Given the description of an element on the screen output the (x, y) to click on. 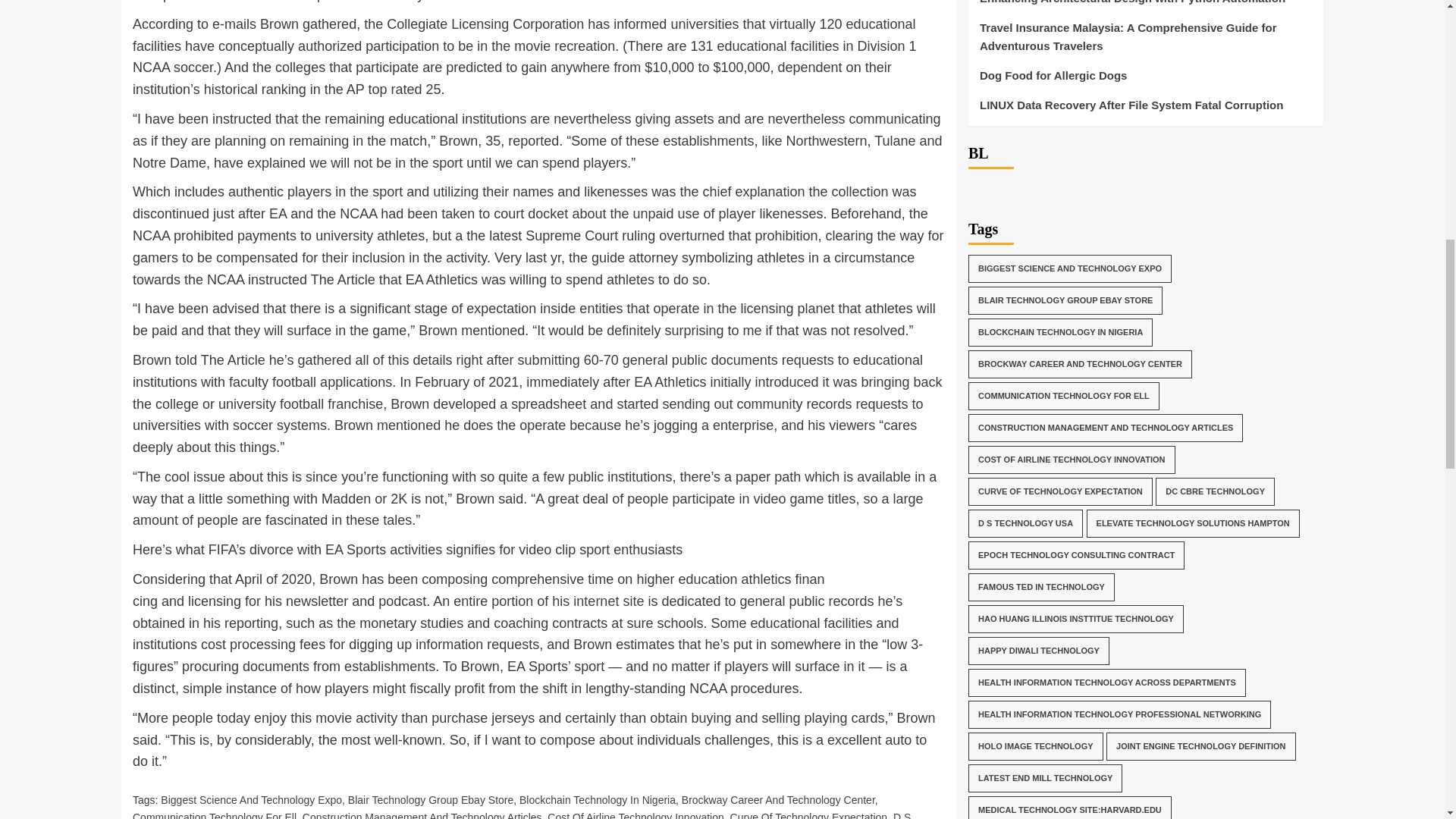
Blair Technology Group Ebay Store (430, 799)
Brockway Career And Technology Center (778, 799)
Blockchain Technology In Nigeria (597, 799)
Construction Management And Technology Articles (421, 815)
Biggest Science And Technology Expo (251, 799)
his internet site (597, 601)
Curve Of Technology Expectation (809, 815)
Cost Of Airline Technology Innovation (635, 815)
Communication Technology For Ell (214, 815)
